Given the description of an element on the screen output the (x, y) to click on. 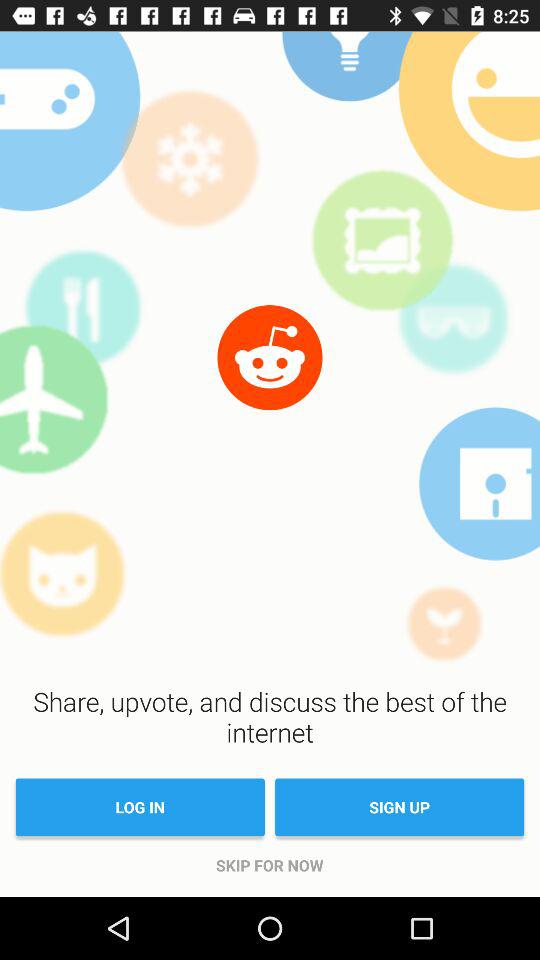
turn on icon at the bottom right corner (399, 807)
